Given the description of an element on the screen output the (x, y) to click on. 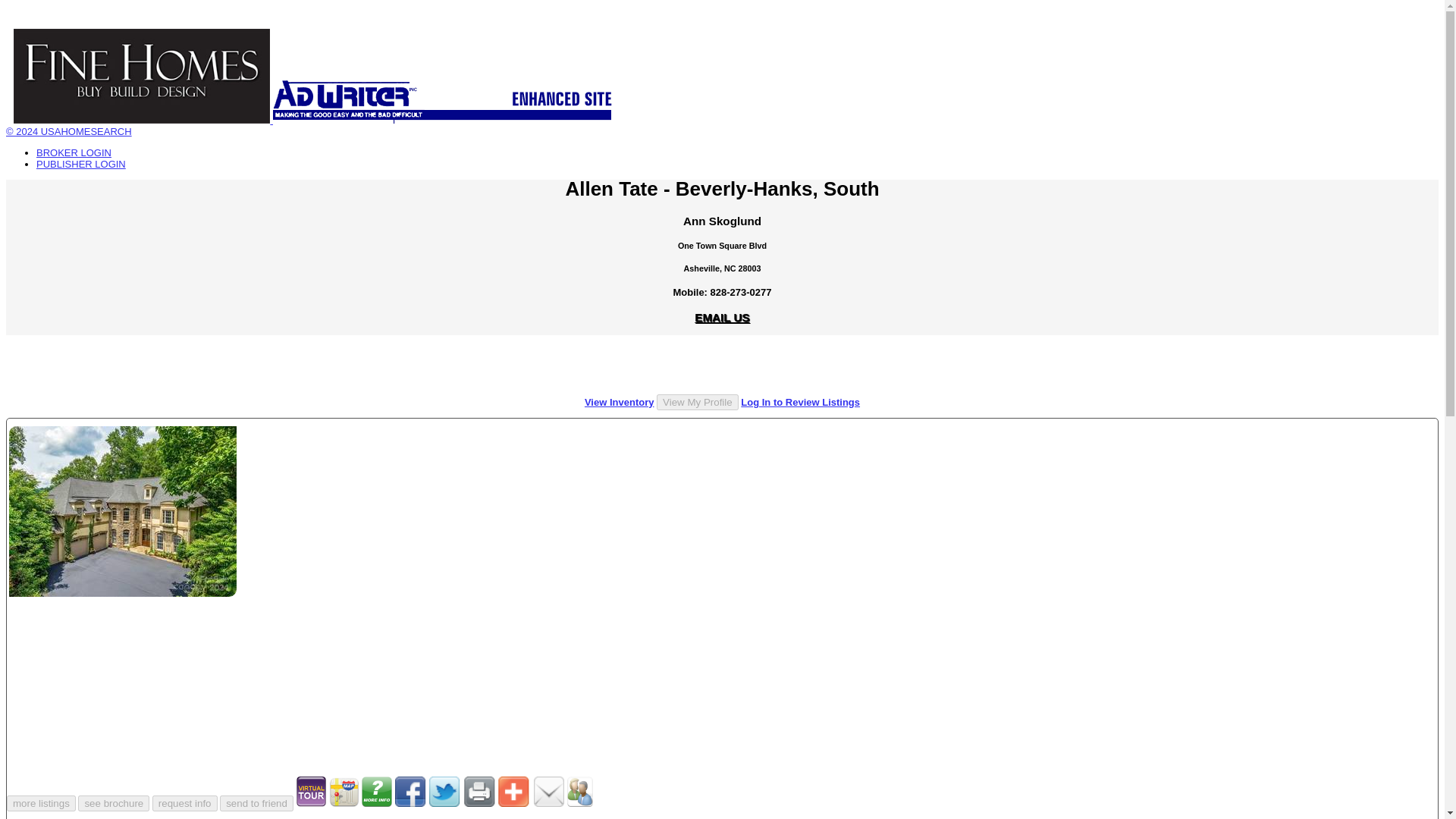
View this agent profile (697, 401)
see brochure (113, 803)
View Inventory (619, 401)
BROKER LOGIN (74, 152)
send to friend (256, 803)
Manage Your Listings (74, 152)
request info (184, 803)
PUBLISHER LOGIN (80, 163)
The World (446, 96)
EMAIL US (721, 317)
more listings (41, 803)
Magazine Publishers Only Please (80, 163)
View My Profile (697, 401)
See all the listings in abbreviated format (619, 401)
Log In to Review Listings (800, 401)
